Given the description of an element on the screen output the (x, y) to click on. 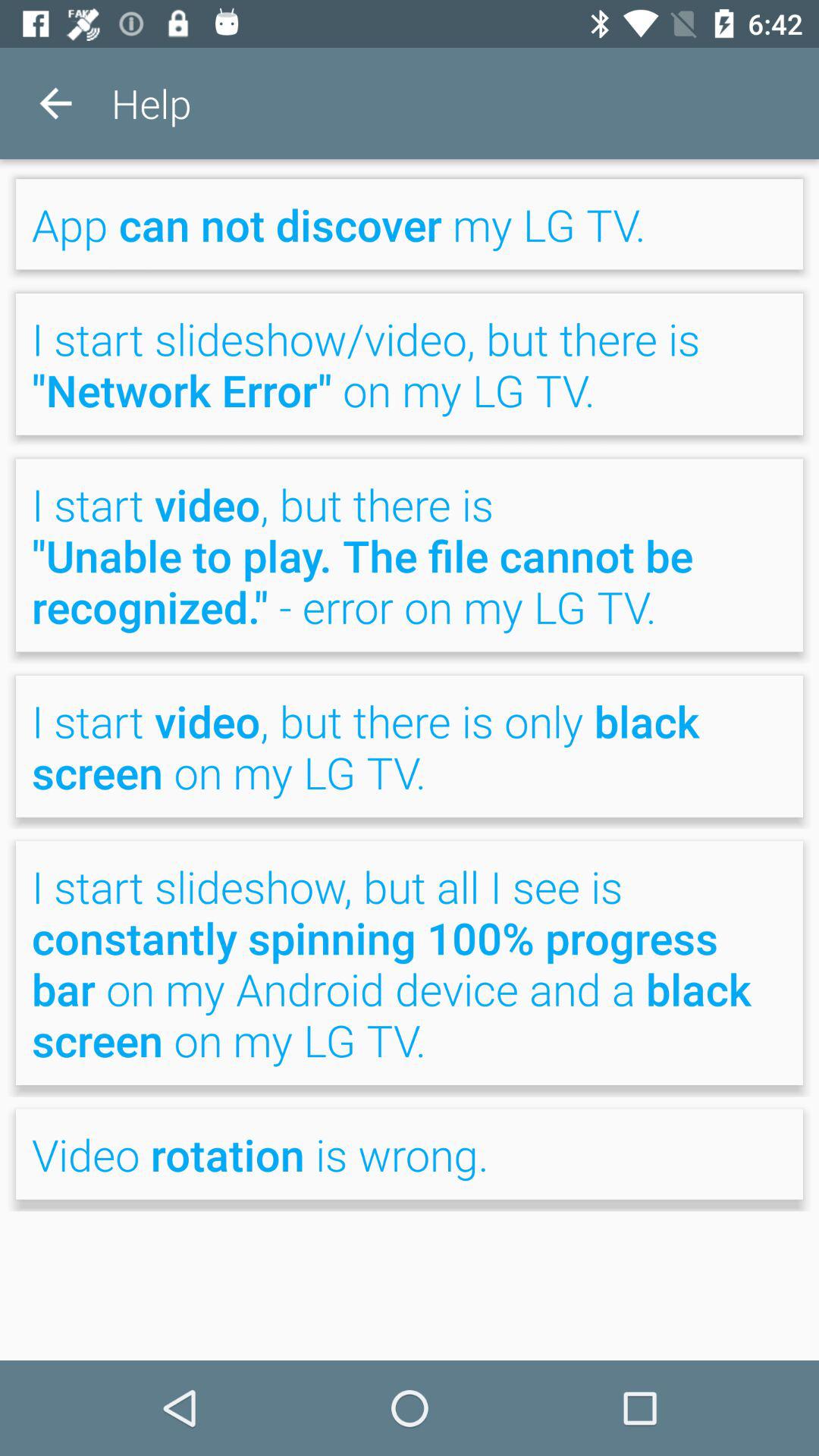
press the app can not icon (409, 224)
